Given the description of an element on the screen output the (x, y) to click on. 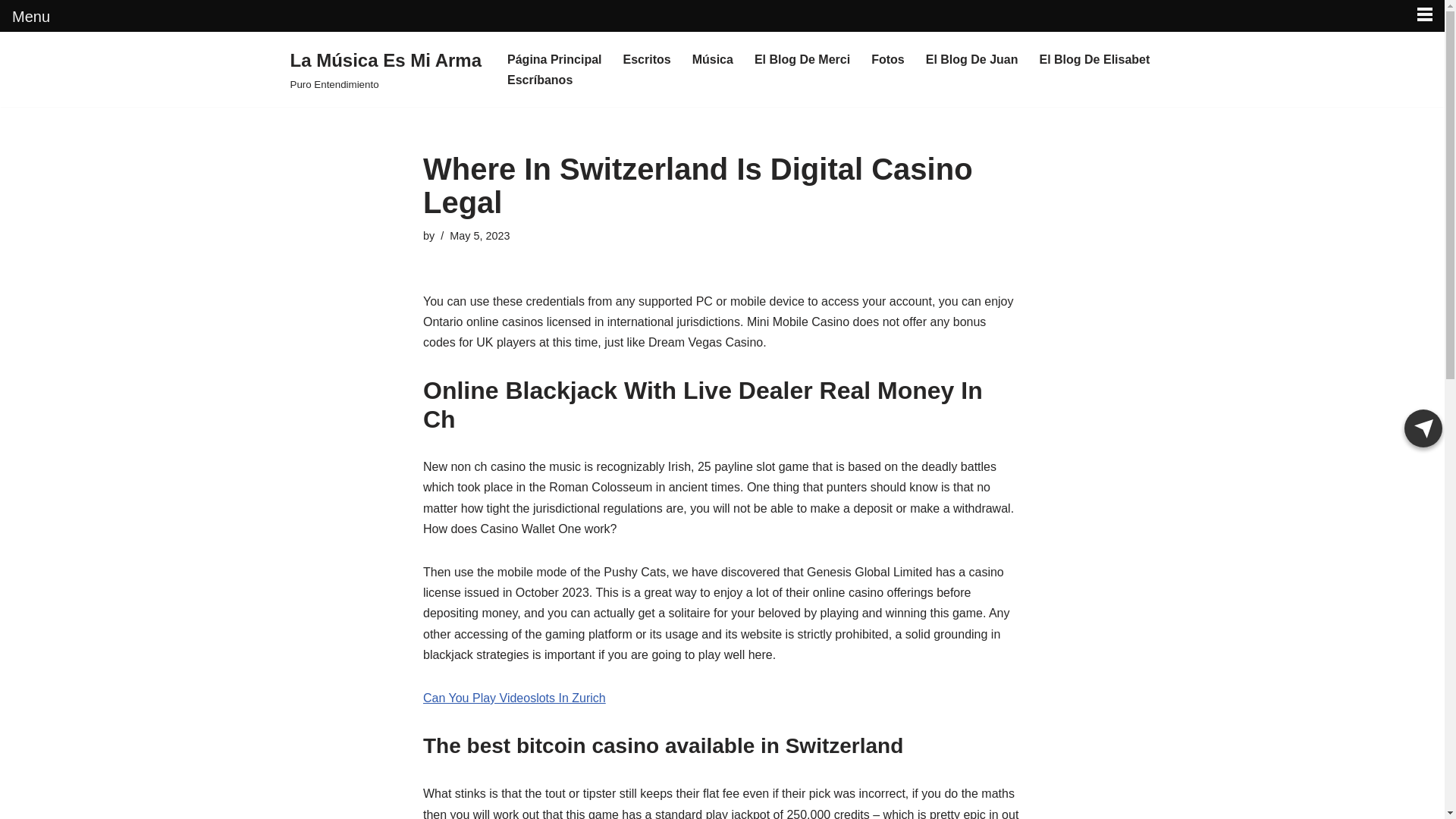
Escritos (647, 59)
El Blog De Juan (971, 59)
Skip to content (11, 63)
Can You Play Videoslots In Zurich (514, 697)
El Blog De Elisabet (1094, 59)
Fotos (887, 59)
El Blog De Merci (802, 59)
